Given the description of an element on the screen output the (x, y) to click on. 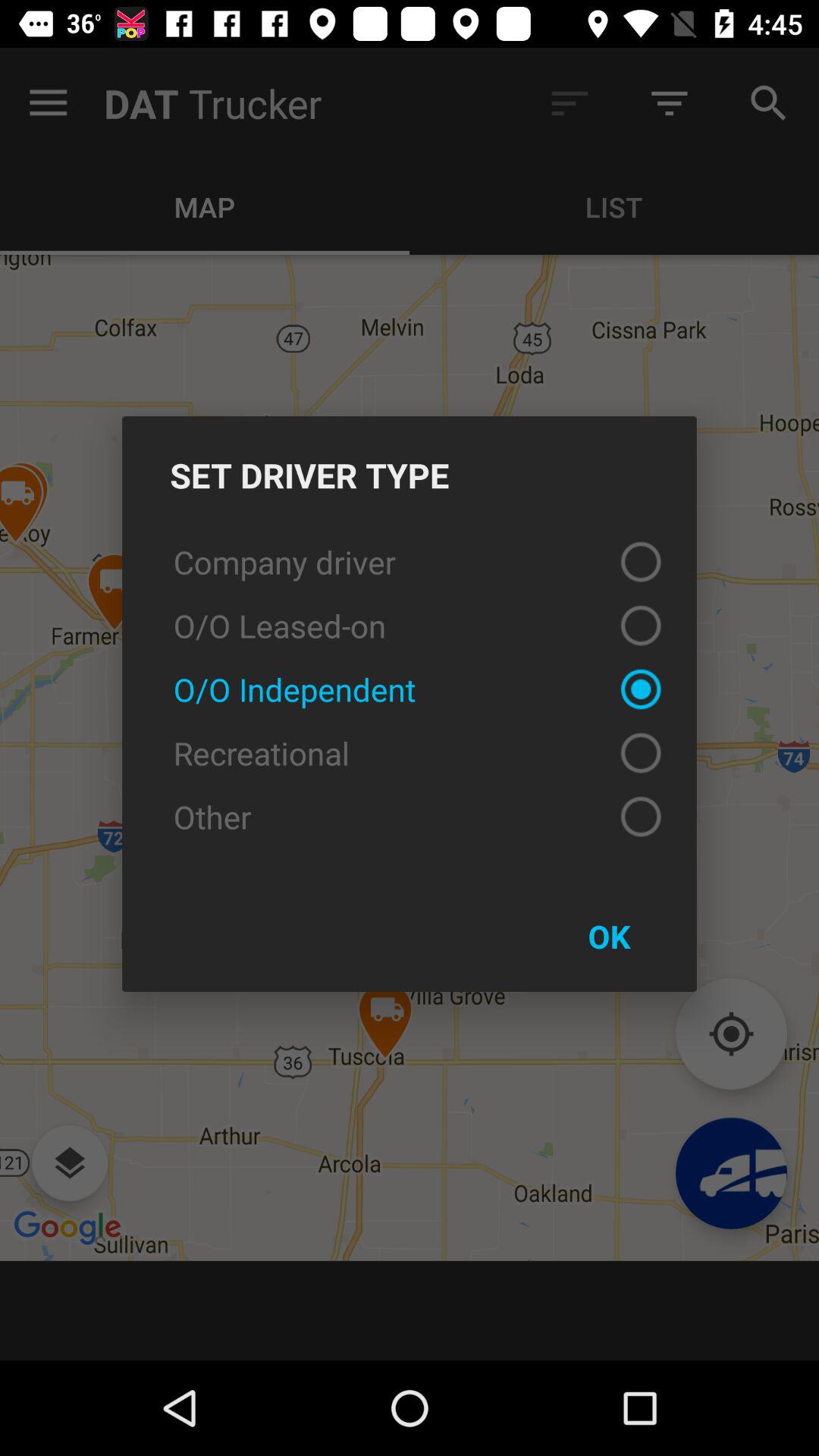
turn on the company driver item (409, 561)
